Given the description of an element on the screen output the (x, y) to click on. 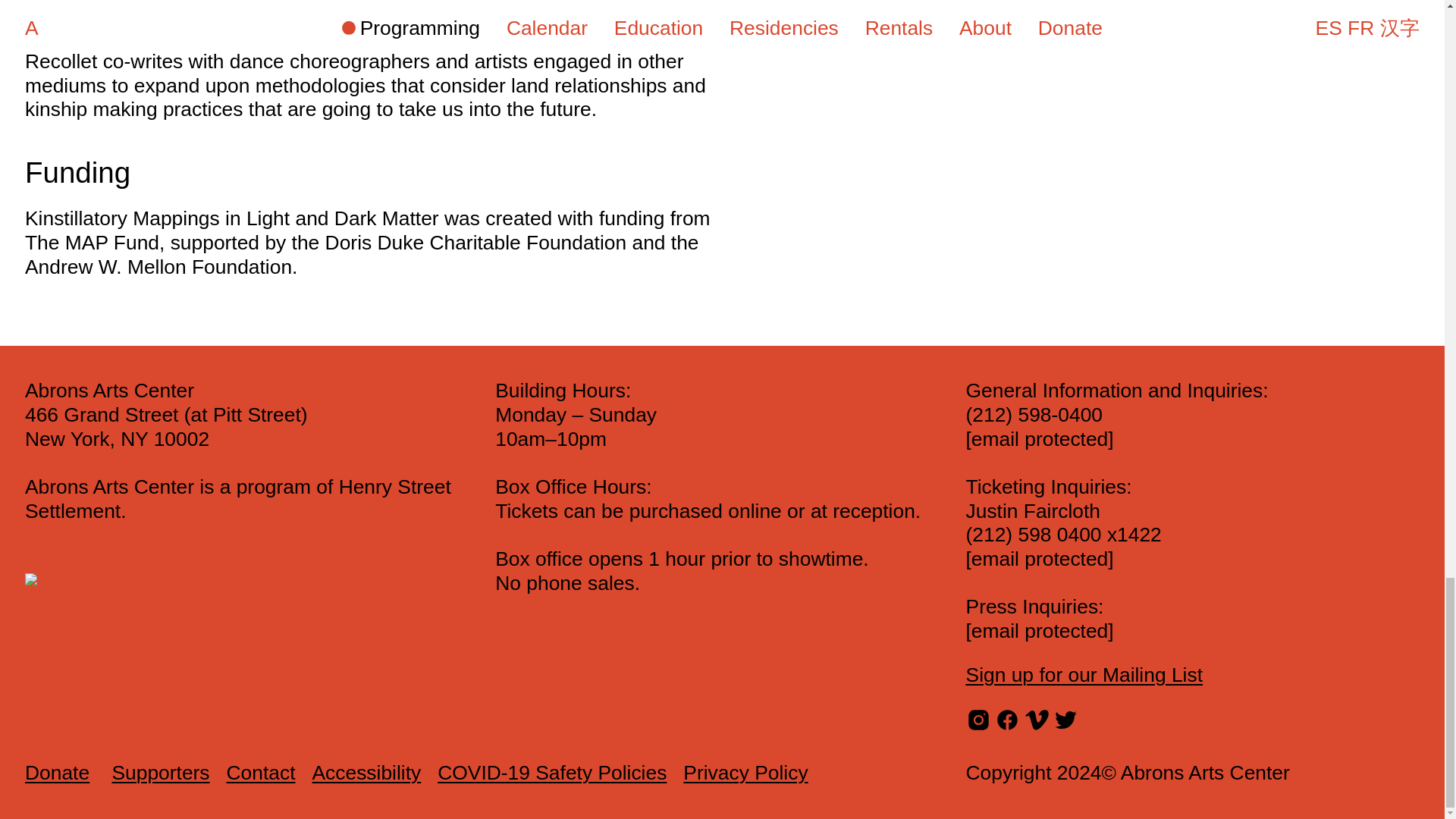
Contact (261, 772)
COVID-19 Safety Policies (552, 772)
Accessibility (367, 772)
Donate (56, 773)
Supporters (160, 772)
Privacy Policy (745, 772)
Sign up for our Mailing List (1084, 675)
